Given the description of an element on the screen output the (x, y) to click on. 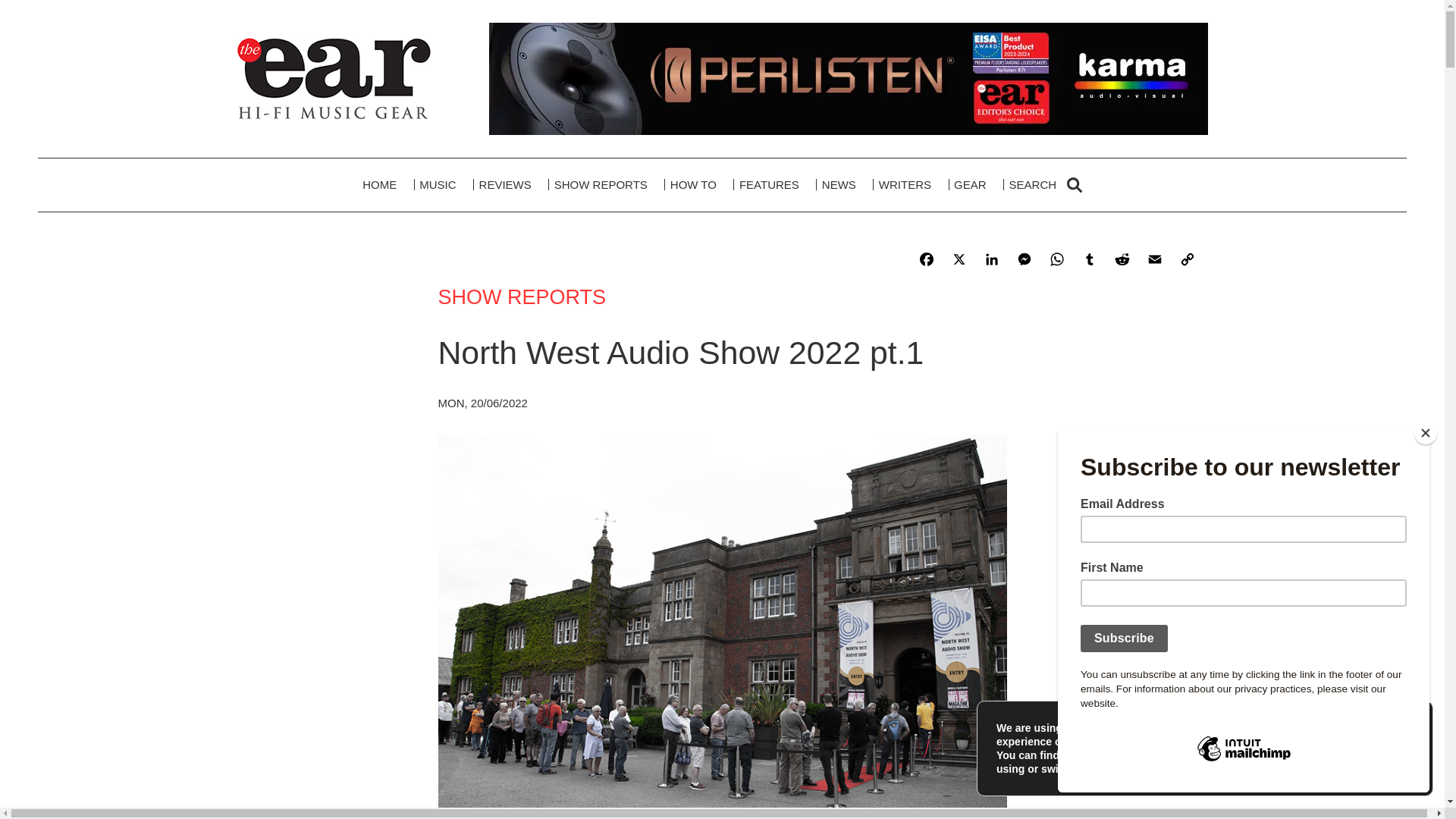
Messenger (1026, 261)
Facebook (928, 261)
Copy Link (1189, 261)
Messenger (1026, 261)
SEARCH (1045, 184)
WRITERS (905, 184)
Reddit (1123, 261)
Facebook (928, 261)
LinkedIn (994, 261)
REVIEWS (505, 184)
Email (1155, 261)
Tumblr (1091, 261)
SHOW REPORTS (600, 184)
FEATURES (769, 184)
